Given the description of an element on the screen output the (x, y) to click on. 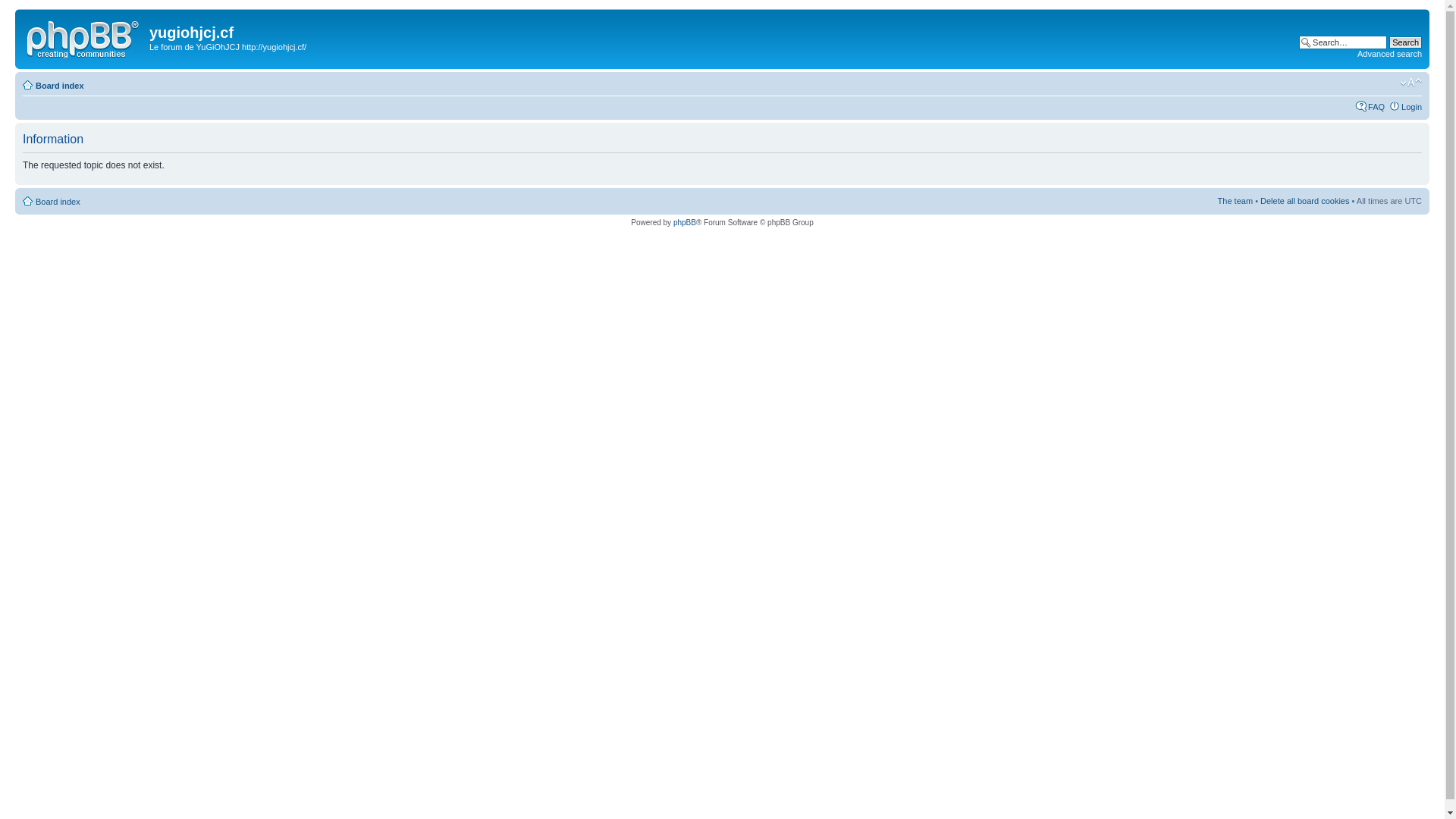
phpBB Element type: text (684, 222)
Login Element type: text (1411, 106)
Delete all board cookies Element type: text (1304, 200)
Board index Element type: hover (83, 36)
Advanced search Element type: text (1389, 53)
Change font size Element type: text (1410, 82)
Board index Element type: text (57, 201)
Board index Element type: text (59, 85)
Search for keywords Element type: hover (1342, 42)
Search Element type: text (1405, 42)
The team Element type: text (1234, 200)
FAQ Element type: text (1376, 106)
